Given the description of an element on the screen output the (x, y) to click on. 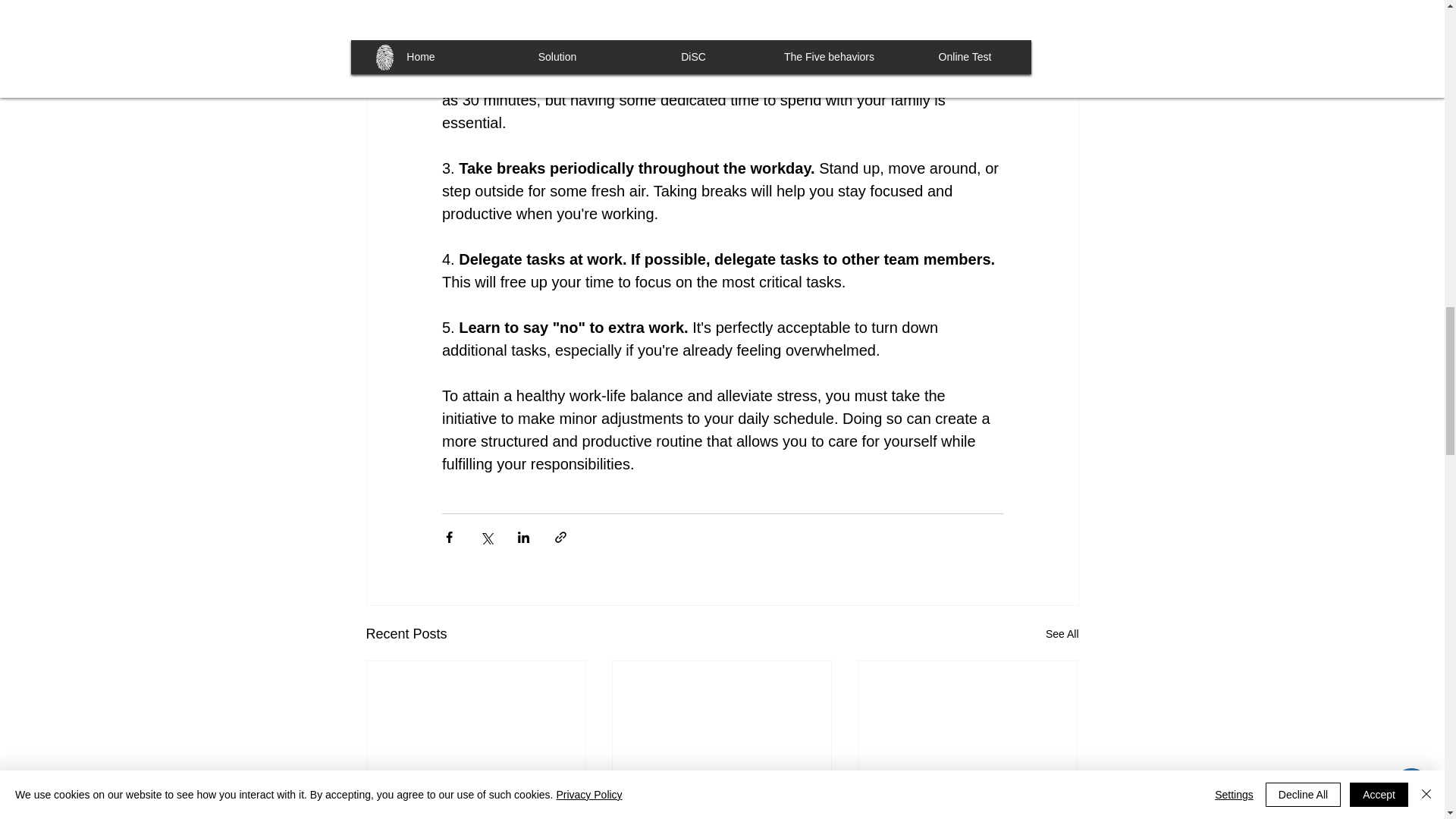
See All (1061, 634)
